Given the description of an element on the screen output the (x, y) to click on. 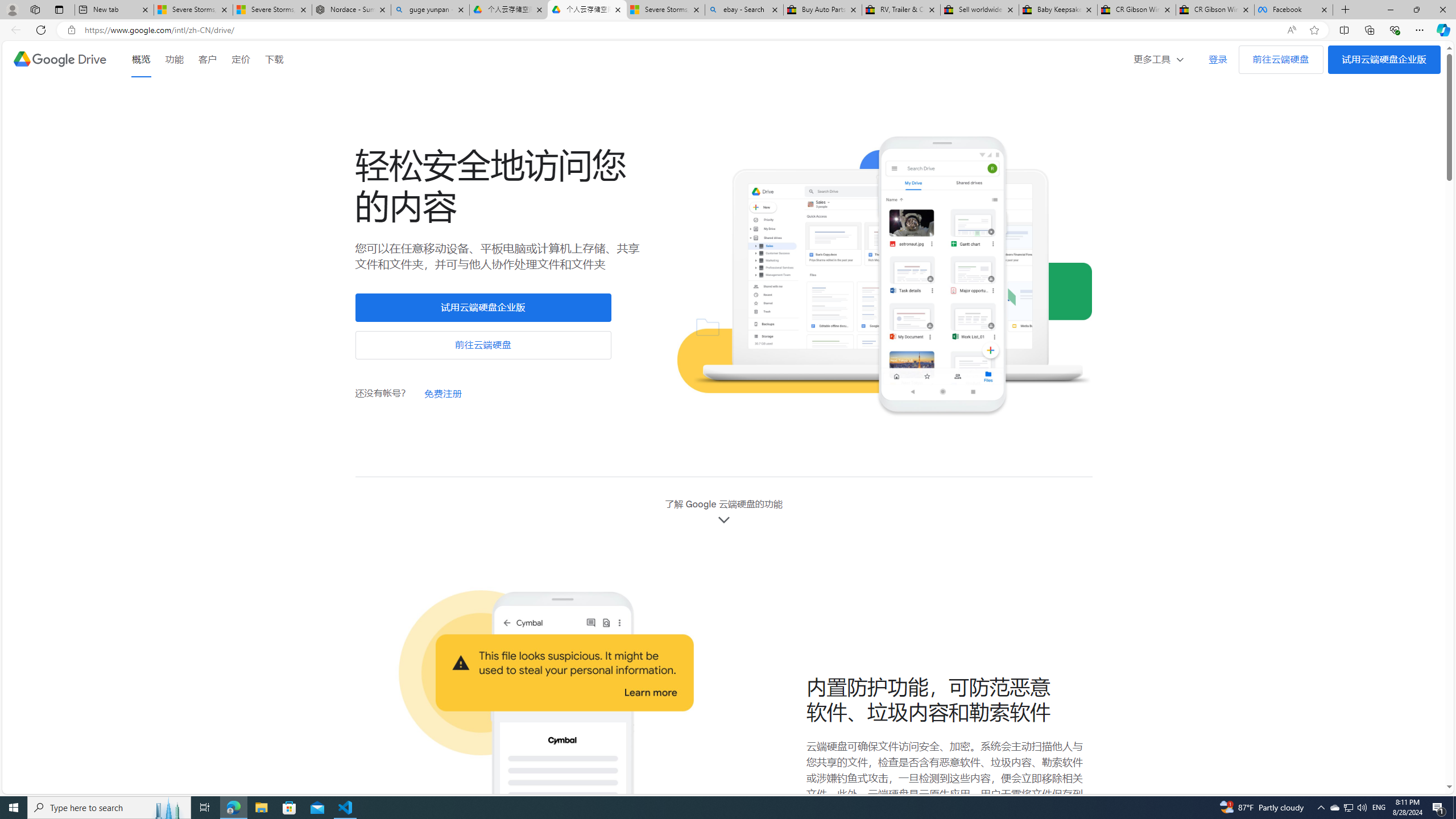
Baby Keepsakes & Announcements for sale | eBay (1057, 9)
ebay - Search (743, 9)
